Given the description of an element on the screen output the (x, y) to click on. 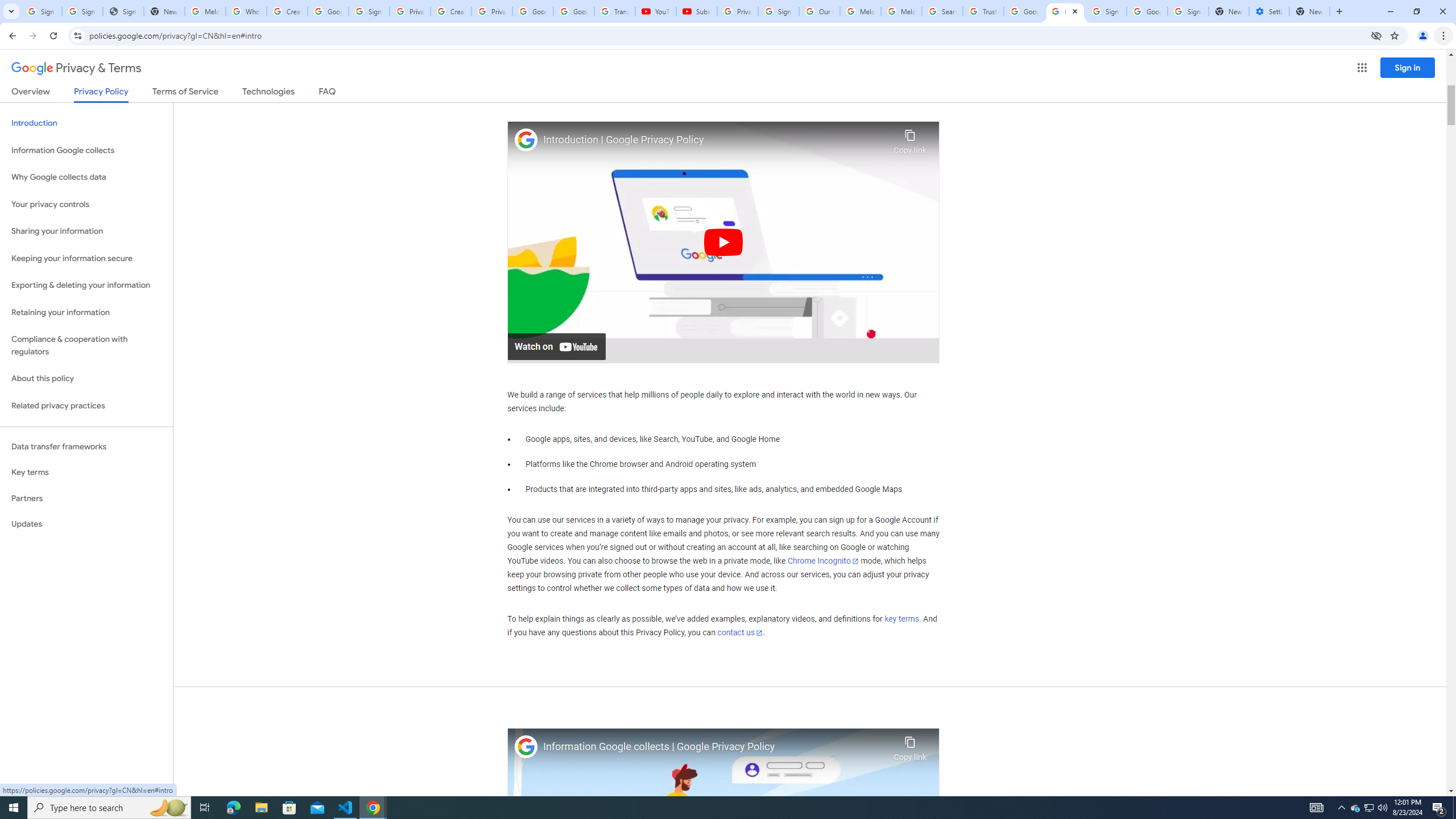
Photo image of Google (526, 746)
Information Google collects (86, 150)
Exporting & deleting your information (86, 284)
Settings - Addresses and more (1268, 11)
Search our Doodle Library Collection - Google Doodles (942, 11)
